Given the description of an element on the screen output the (x, y) to click on. 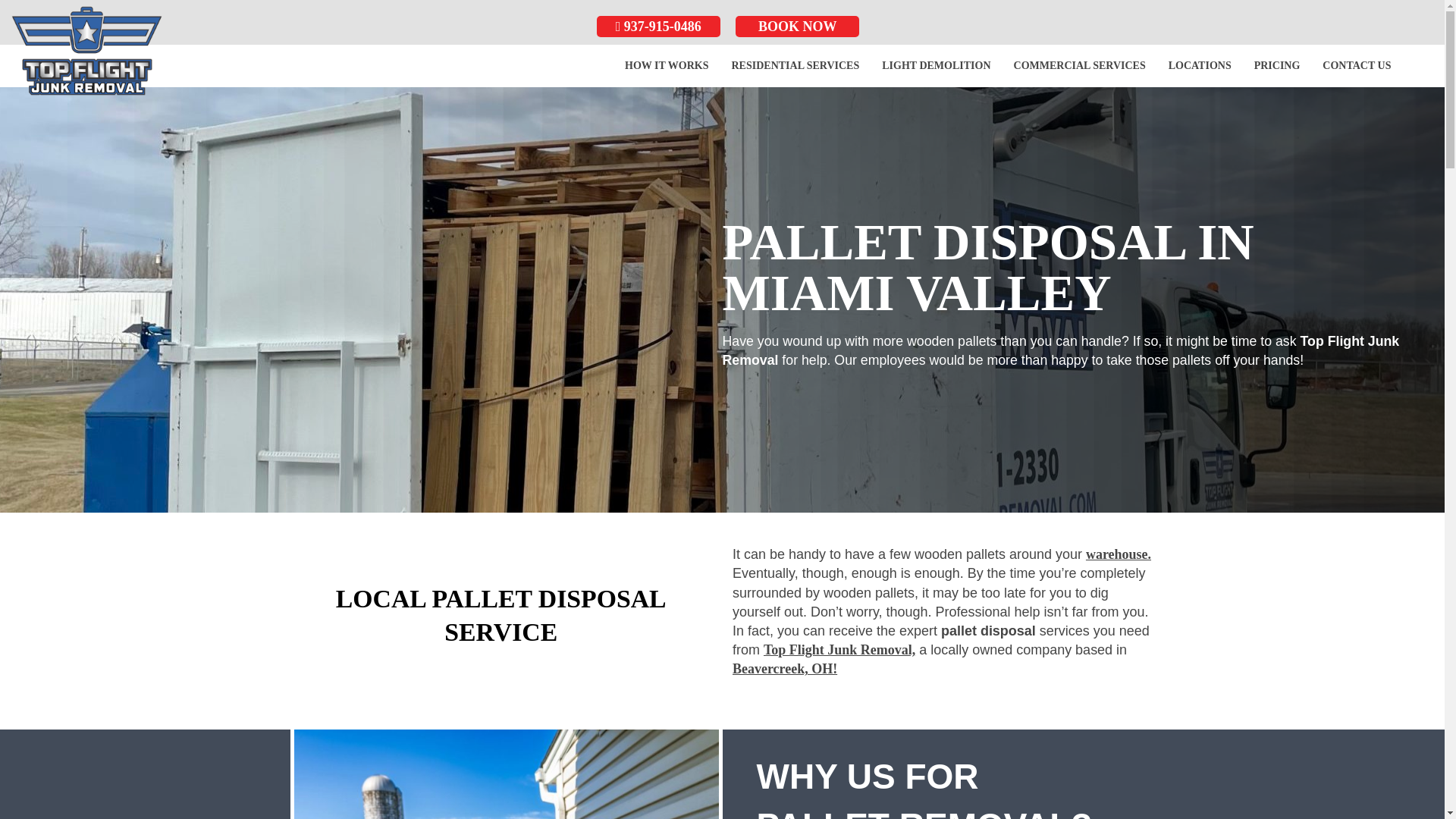
BOOK NOW (797, 25)
COMMERCIAL SERVICES (1079, 65)
937-915-0486 (658, 25)
LIGHT DEMOLITION (936, 65)
HOW IT WORKS (665, 65)
RESIDENTIAL SERVICES (794, 65)
